Given the description of an element on the screen output the (x, y) to click on. 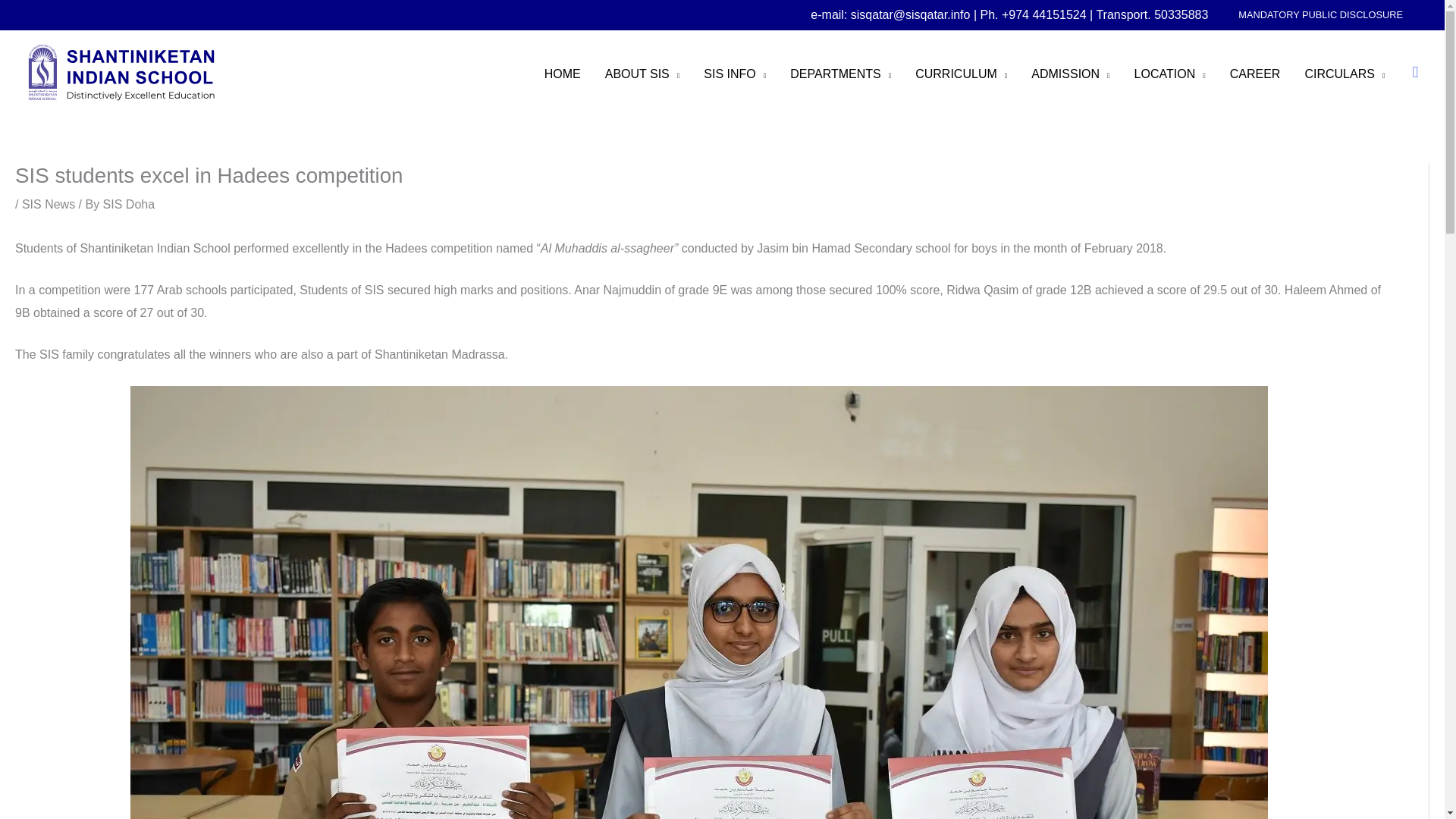
ABOUT SIS (642, 74)
View all posts by SIS Doha (128, 204)
1997 (1169, 74)
DEPARTMENTS (839, 74)
SIS INFO (734, 74)
MANDATORY PUBLIC DISCLOSURE (1320, 15)
HOME (562, 74)
CURRICULUM (960, 74)
